Given the description of an element on the screen output the (x, y) to click on. 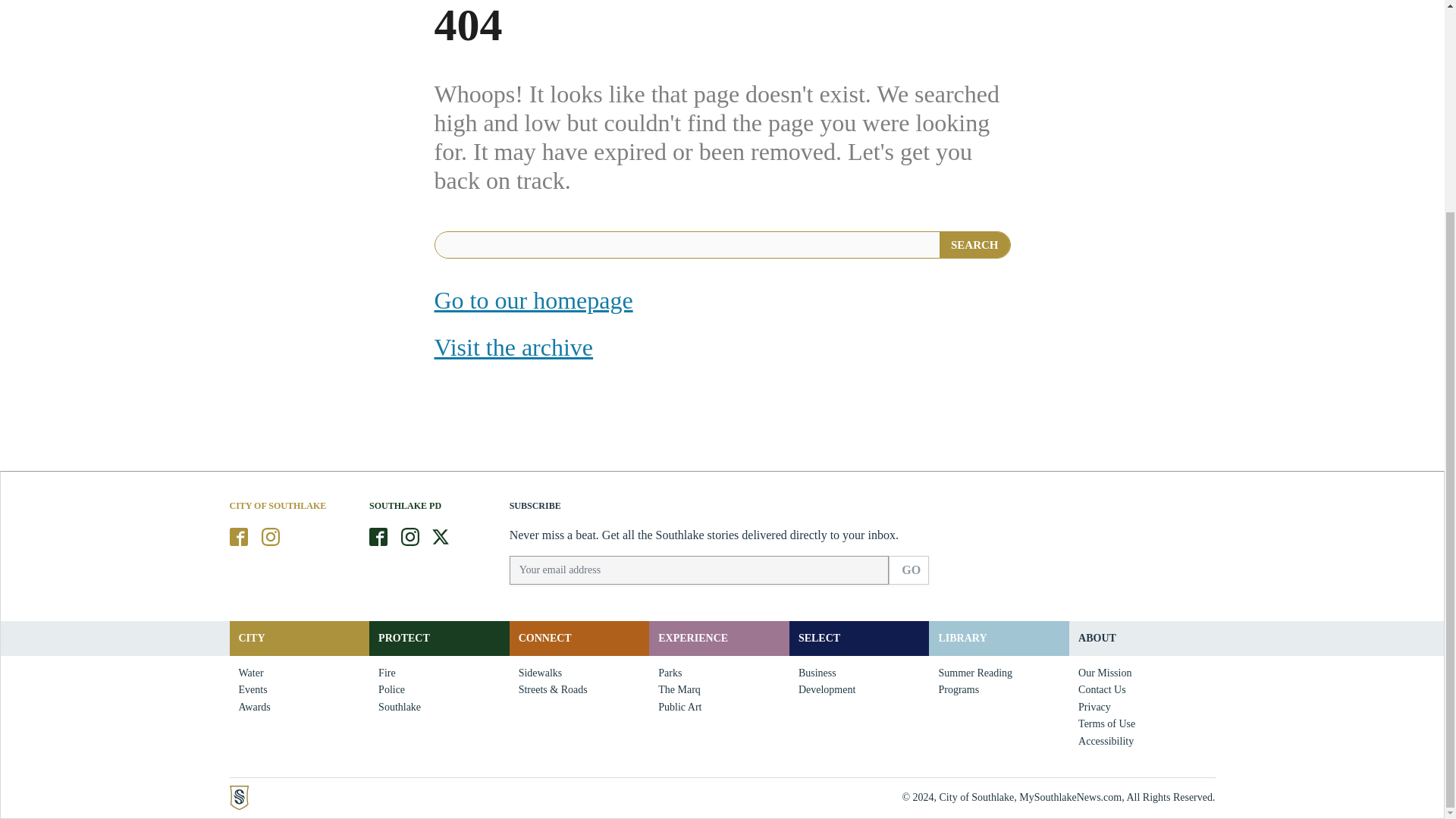
Parks (669, 673)
Summer Reading (975, 673)
Southlake (399, 707)
Go (908, 570)
Public Art (679, 707)
Accessibility (1105, 741)
Terms of Use (1106, 723)
Fire (386, 673)
SELECT (818, 637)
Search (974, 244)
Visit the archive (512, 346)
Awards (253, 707)
Go (908, 570)
Programs (958, 689)
The Marq (679, 689)
